Given the description of an element on the screen output the (x, y) to click on. 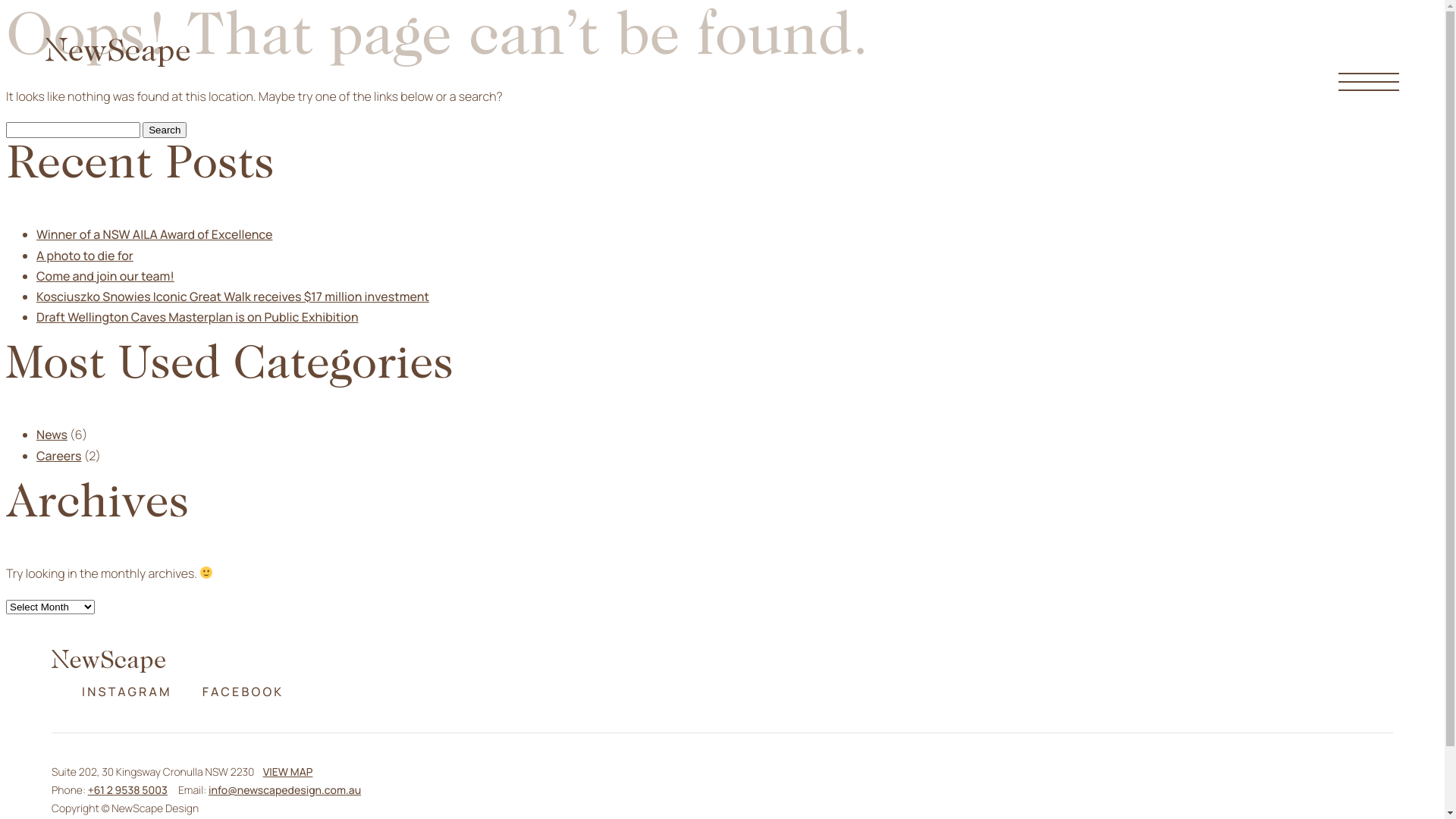
+61 2 9538 5003 Element type: text (127, 790)
Search Element type: text (164, 130)
FACEBOOK Element type: text (243, 691)
VIEW MAP Element type: text (288, 772)
INSTAGRAM Element type: text (126, 691)
Come and join our team! Element type: text (105, 275)
Draft Wellington Caves Masterplan is on Public Exhibition Element type: text (197, 316)
A photo to die for Element type: text (84, 255)
Careers Element type: text (58, 455)
info@newscapedesign.com.au Element type: text (284, 790)
News Element type: text (51, 434)
Winner of a NSW AILA Award of Excellence Element type: text (154, 233)
